Given the description of an element on the screen output the (x, y) to click on. 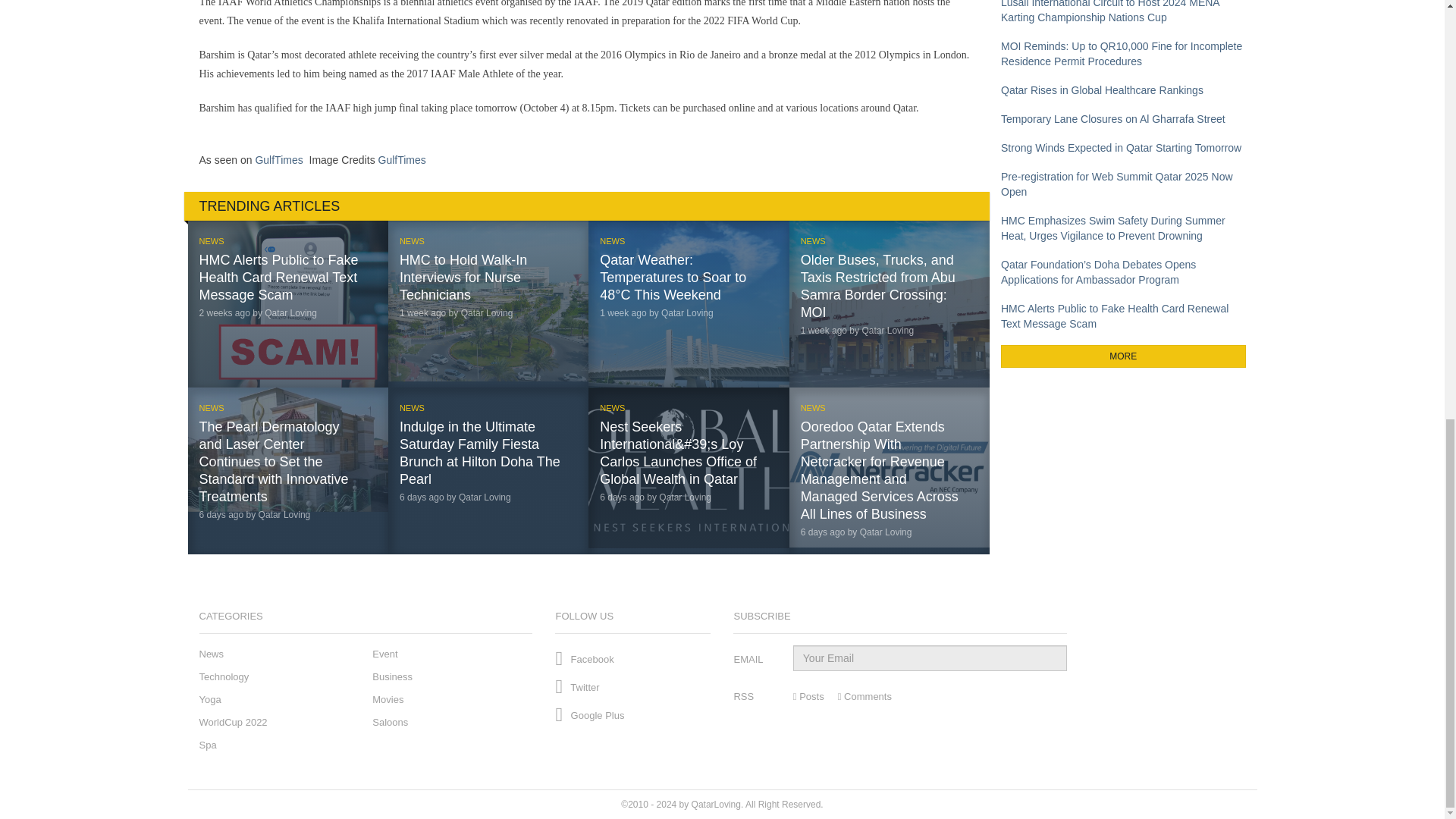
Qatar Loving (487, 312)
Qatar Loving (484, 497)
Qatar Loving (685, 497)
Qatar Loving (887, 330)
Qatar Loving (687, 312)
Qatar Loving (285, 514)
GulfTimes (402, 159)
HMC to Hold Walk-In Interviews for Nurse Technicians (462, 277)
TRENDING ARTICLES (586, 205)
Qatar Loving (290, 312)
GulfTimes (278, 159)
